Given the description of an element on the screen output the (x, y) to click on. 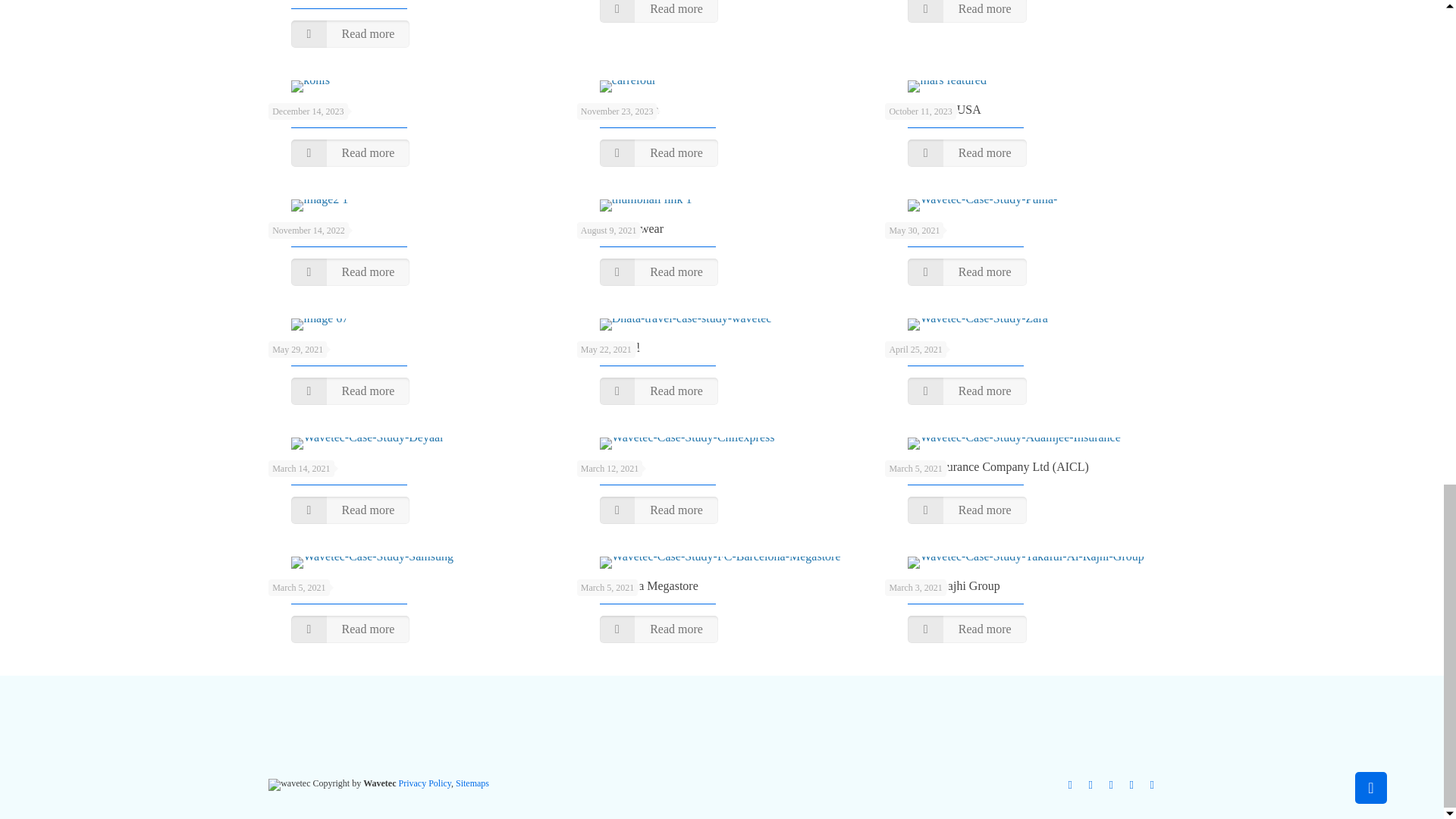
Disney 11 (319, 205)
MARS Group USA 10 (947, 86)
Dnata Travel 15 (685, 324)
Read more (350, 33)
LINK Sportswear 12 (646, 205)
Kohl's USA 8 (310, 86)
Puma 13 (982, 205)
Nike 14 (319, 324)
Carrefour Kenya 9 (627, 86)
